Given the description of an element on the screen output the (x, y) to click on. 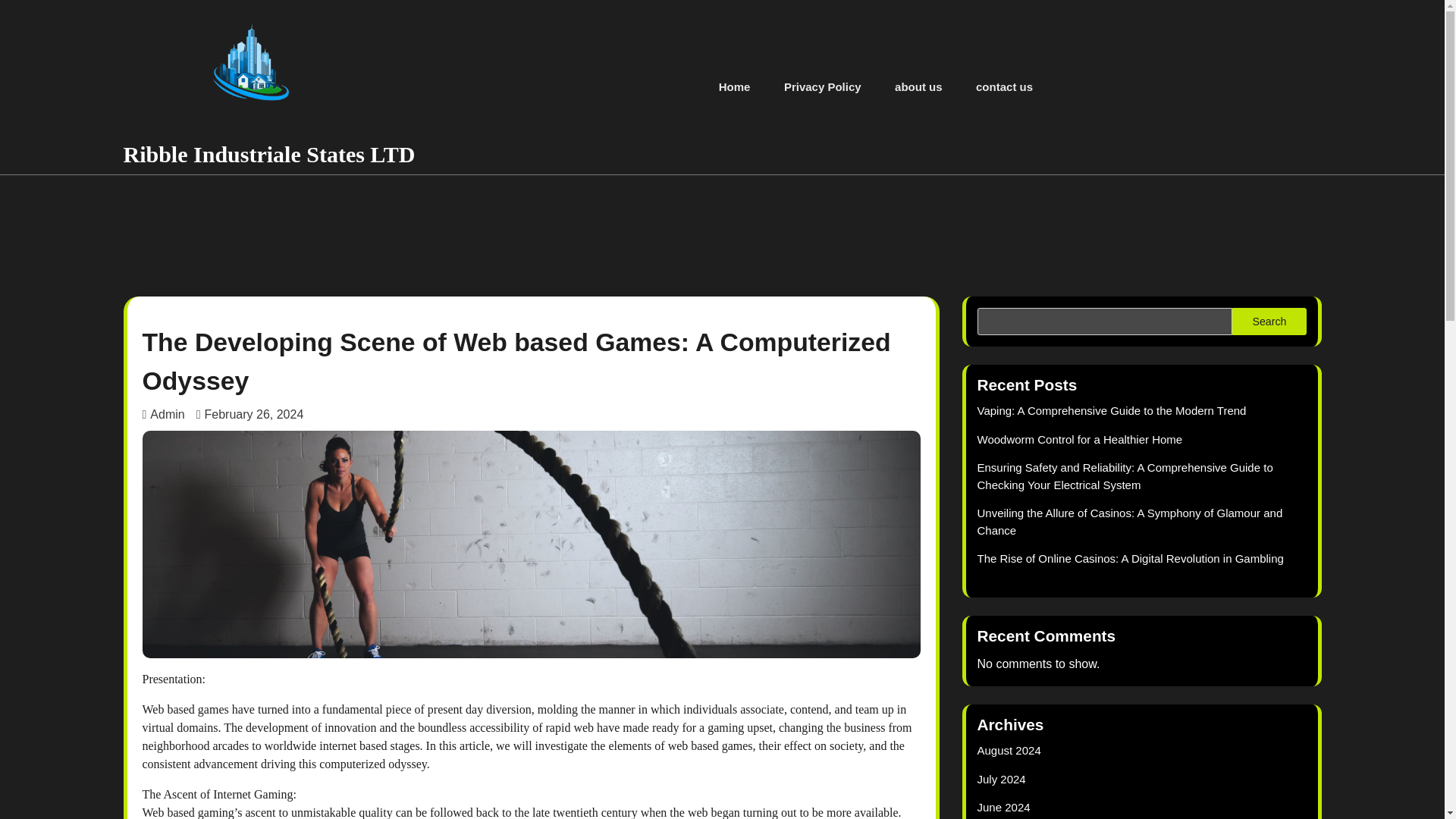
Admin (163, 413)
Privacy Policy (822, 87)
Vaping: A Comprehensive Guide to the Modern Trend (1111, 410)
Search (1268, 320)
Home (734, 87)
The Rise of Online Casinos: A Digital Revolution in Gambling (1129, 558)
February 26, 2024 (250, 413)
July 2024 (1000, 779)
Woodworm Control for a Healthier Home (1079, 439)
about us (918, 87)
August 2024 (1008, 749)
Ribble Industriale States LTD (268, 154)
contact us (1004, 87)
